Given the description of an element on the screen output the (x, y) to click on. 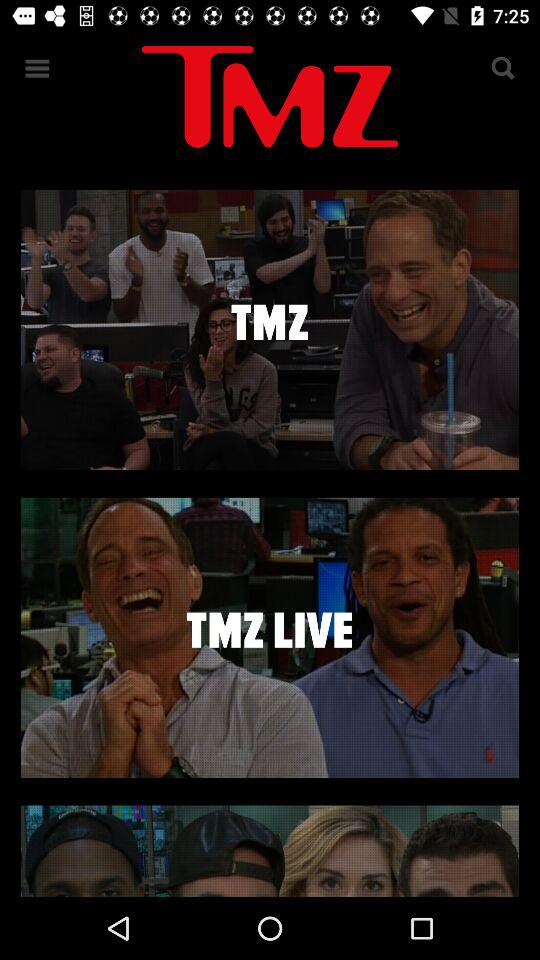
go to the home page (269, 100)
